Given the description of an element on the screen output the (x, y) to click on. 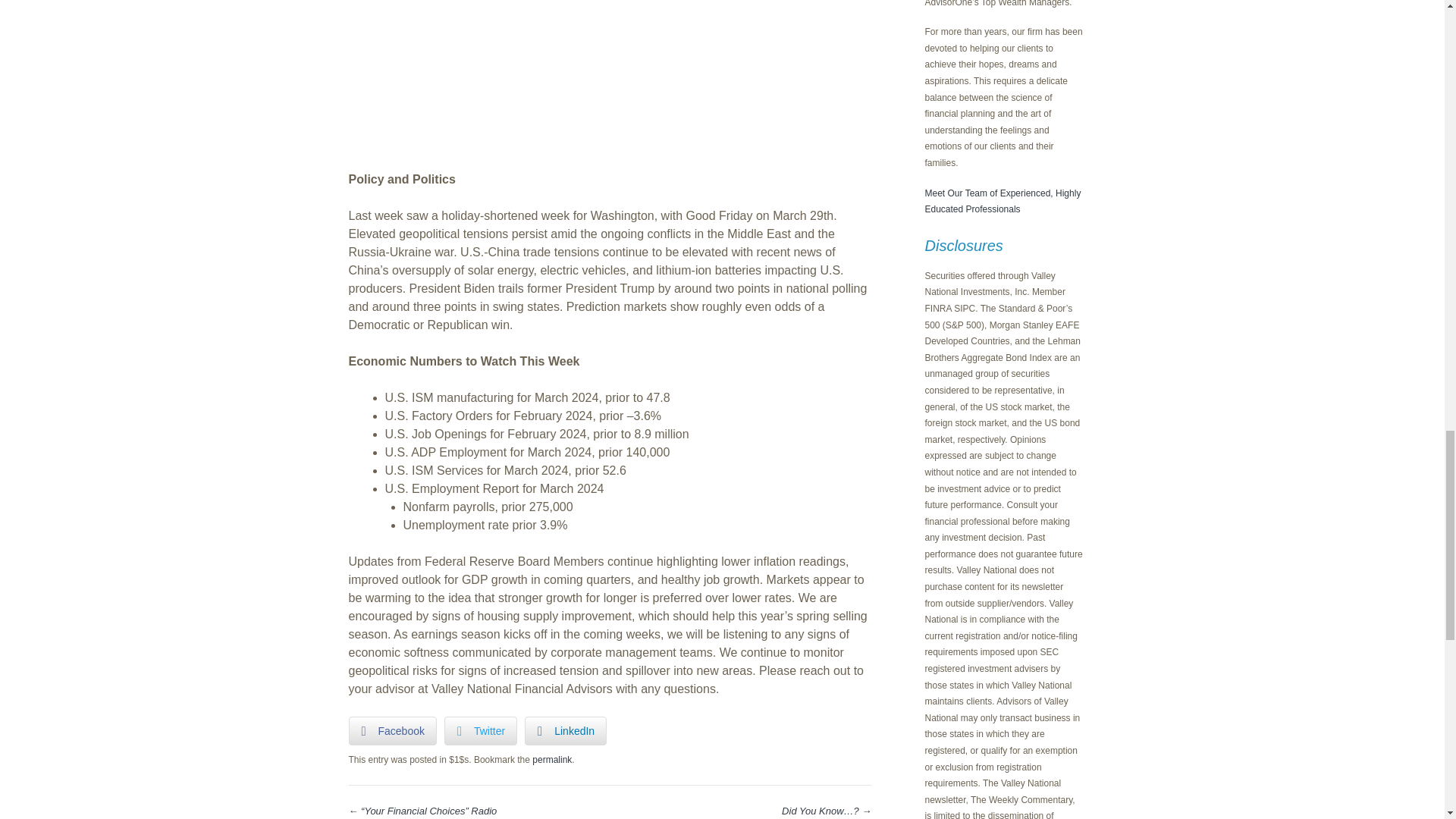
Facebook (392, 730)
permalink (552, 759)
Meet Our Team of Experienced, Highly Educated Professionals (1002, 201)
Permalink to Current Market Observations (552, 759)
LinkedIn (565, 730)
Twitter (480, 730)
